Given the description of an element on the screen output the (x, y) to click on. 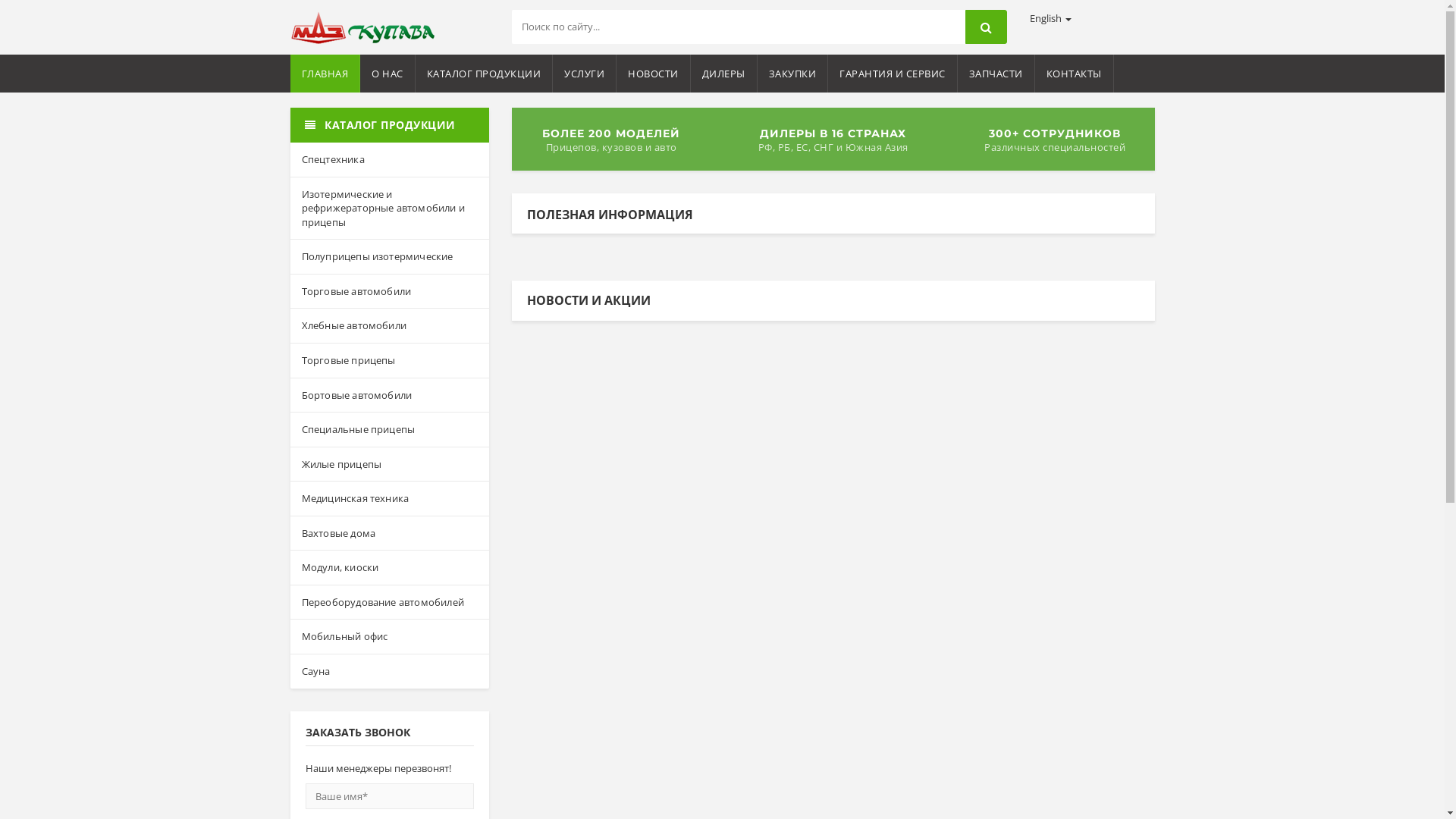
English Element type: text (1050, 18)
